Given the description of an element on the screen output the (x, y) to click on. 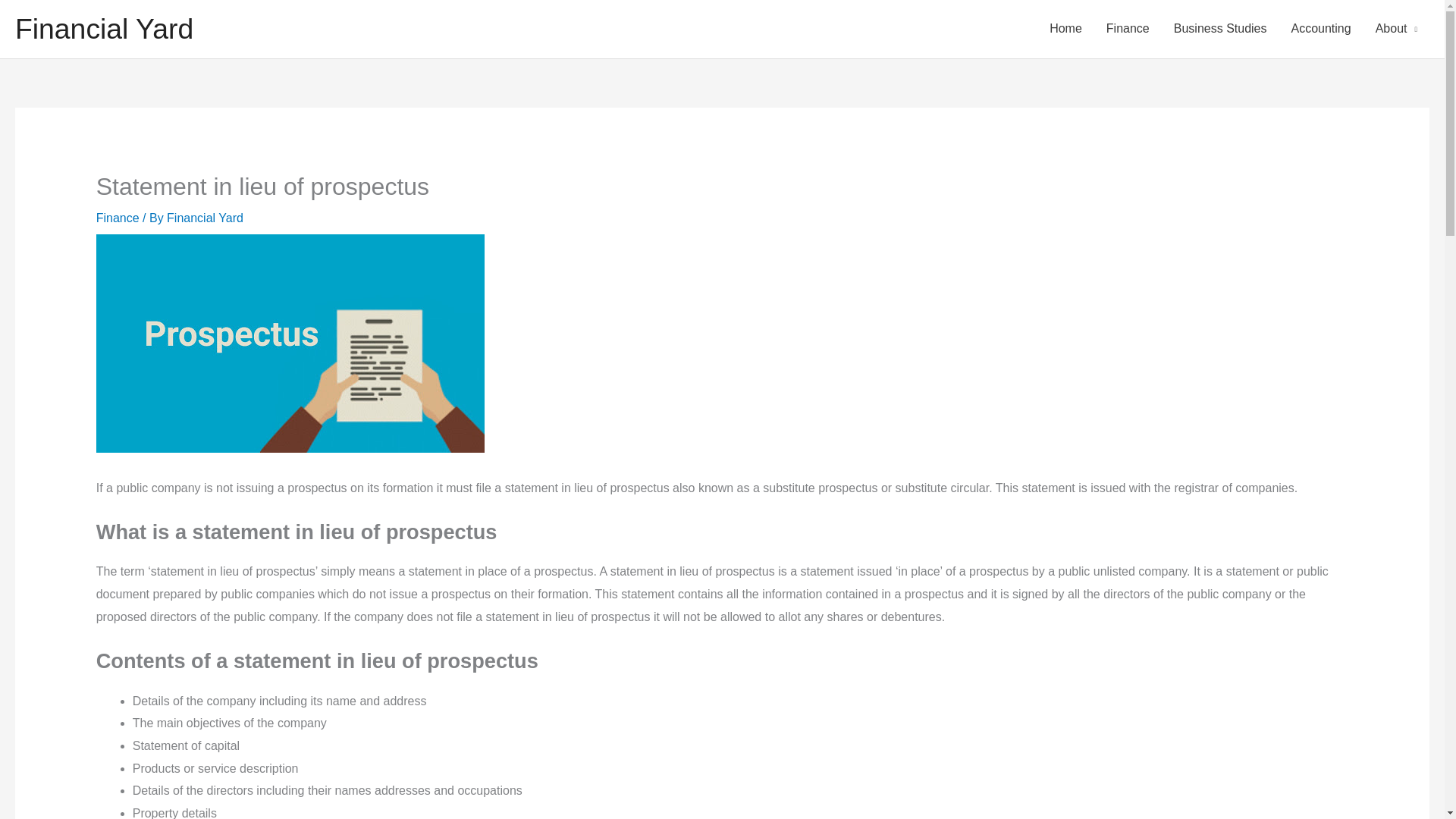
Home (1065, 29)
Finance (1127, 29)
Finance (117, 217)
Accounting (1320, 29)
Financial Yard (103, 29)
About (1395, 29)
Financial Yard (205, 217)
View all posts by Financial Yard (205, 217)
Business Studies (1220, 29)
